Given the description of an element on the screen output the (x, y) to click on. 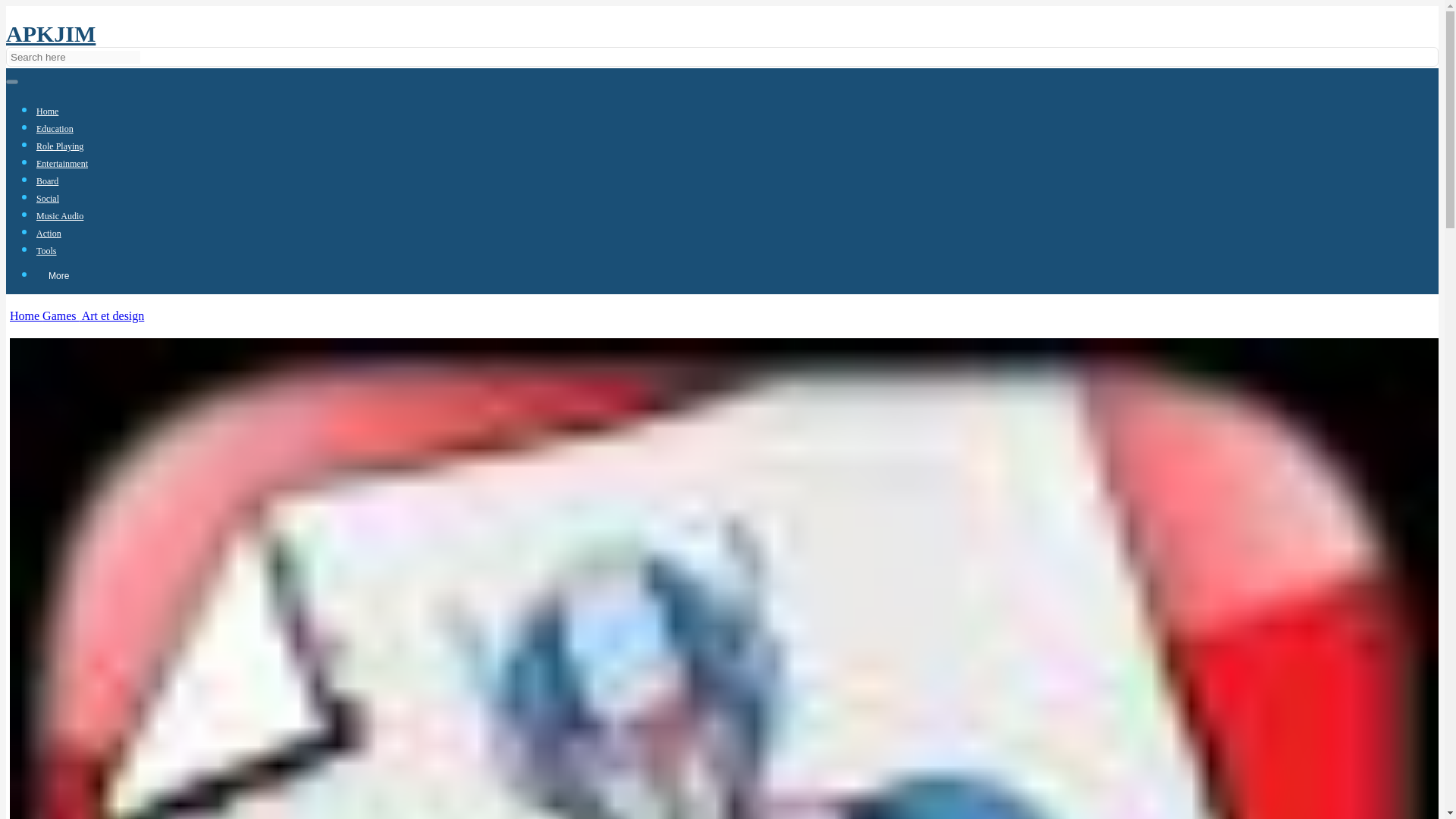
Role Playing (59, 145)
Entertainment (61, 163)
Music Audio (59, 215)
 Art et design (112, 315)
Home (47, 111)
APKJIM (50, 33)
Social (47, 198)
More (58, 275)
Tools (46, 250)
Board (47, 181)
Education (55, 128)
Action (48, 233)
Games  (60, 315)
Home (26, 315)
